Given the description of an element on the screen output the (x, y) to click on. 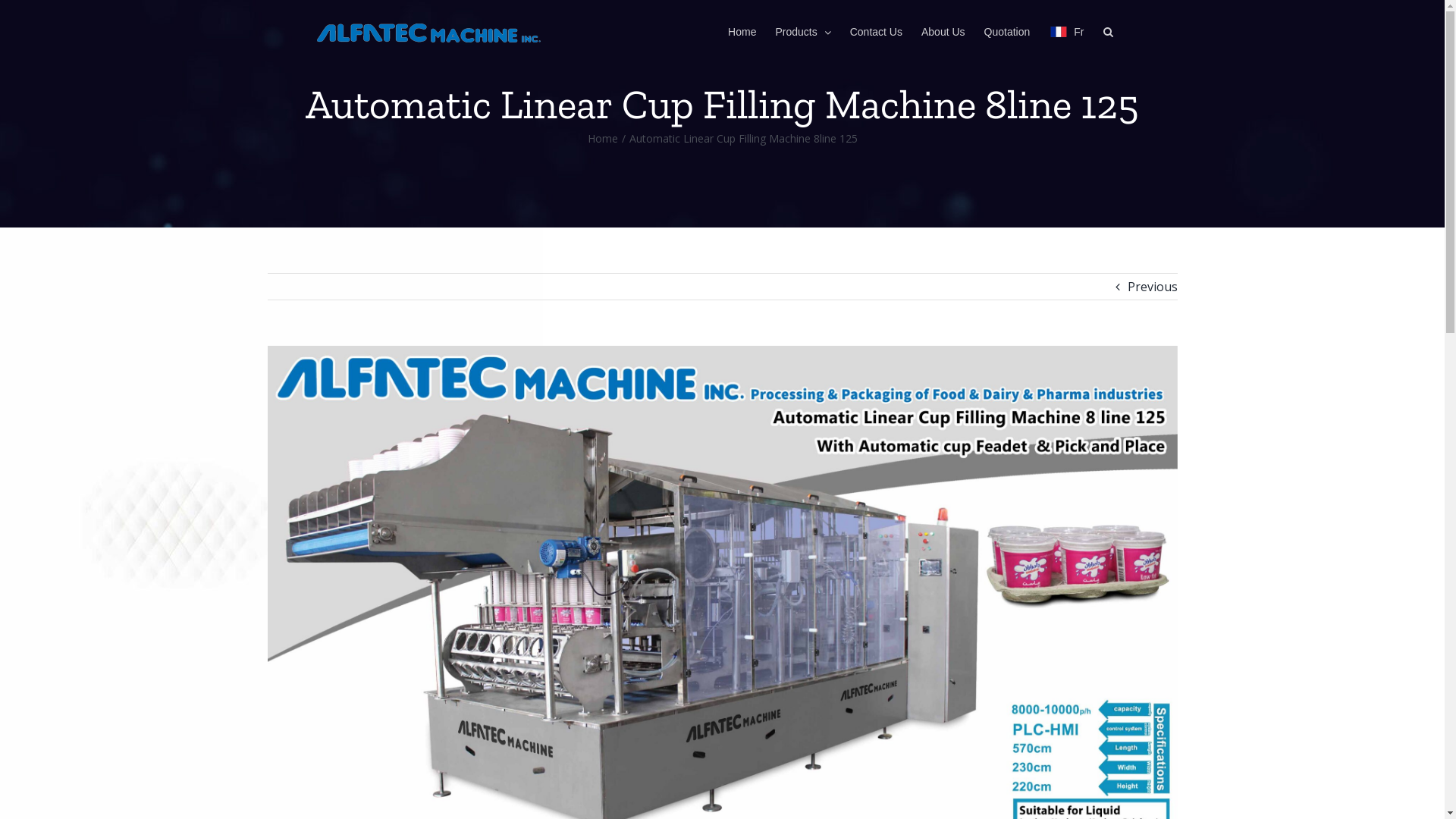
Fr Element type: text (1065, 31)
Quotation Element type: text (1007, 31)
Previous Element type: text (1151, 286)
Home Element type: text (742, 31)
Products Element type: text (802, 31)
Contact Us Element type: text (876, 31)
About Us Element type: text (943, 31)
Search Element type: hover (1107, 31)
frenchflagframed Element type: hover (1058, 31)
Home Element type: text (601, 138)
